Given the description of an element on the screen output the (x, y) to click on. 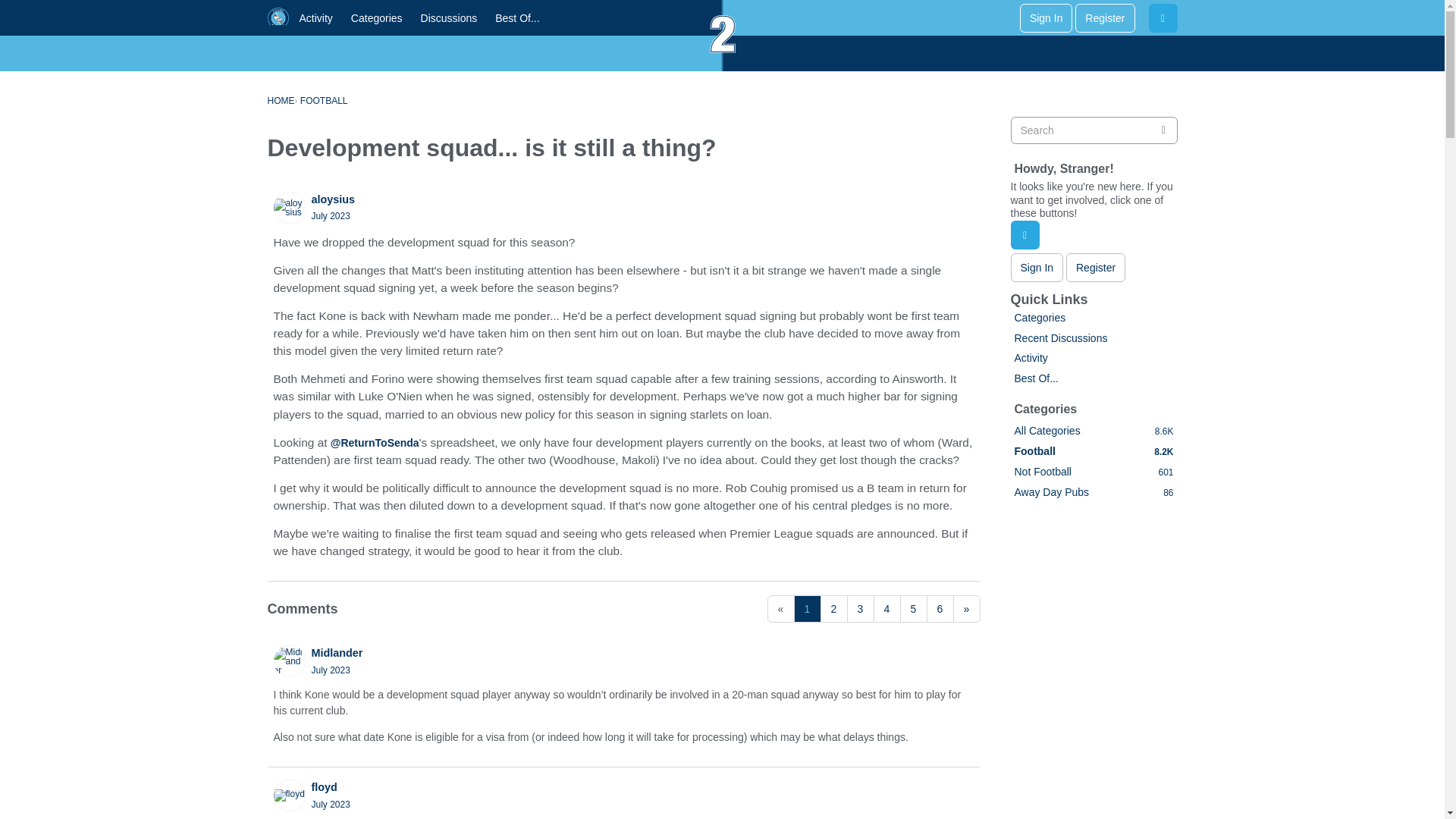
HOME (280, 100)
6 (939, 608)
July 2023 (330, 670)
floyd (288, 795)
3 (859, 608)
FOOTBALL (323, 100)
Skip to content (13, 13)
Categories (377, 17)
aloysius (288, 207)
Activity (314, 17)
Next Page (965, 608)
Midlander (288, 661)
Register (1104, 18)
July 2023 (330, 215)
Midlander (336, 653)
